Given the description of an element on the screen output the (x, y) to click on. 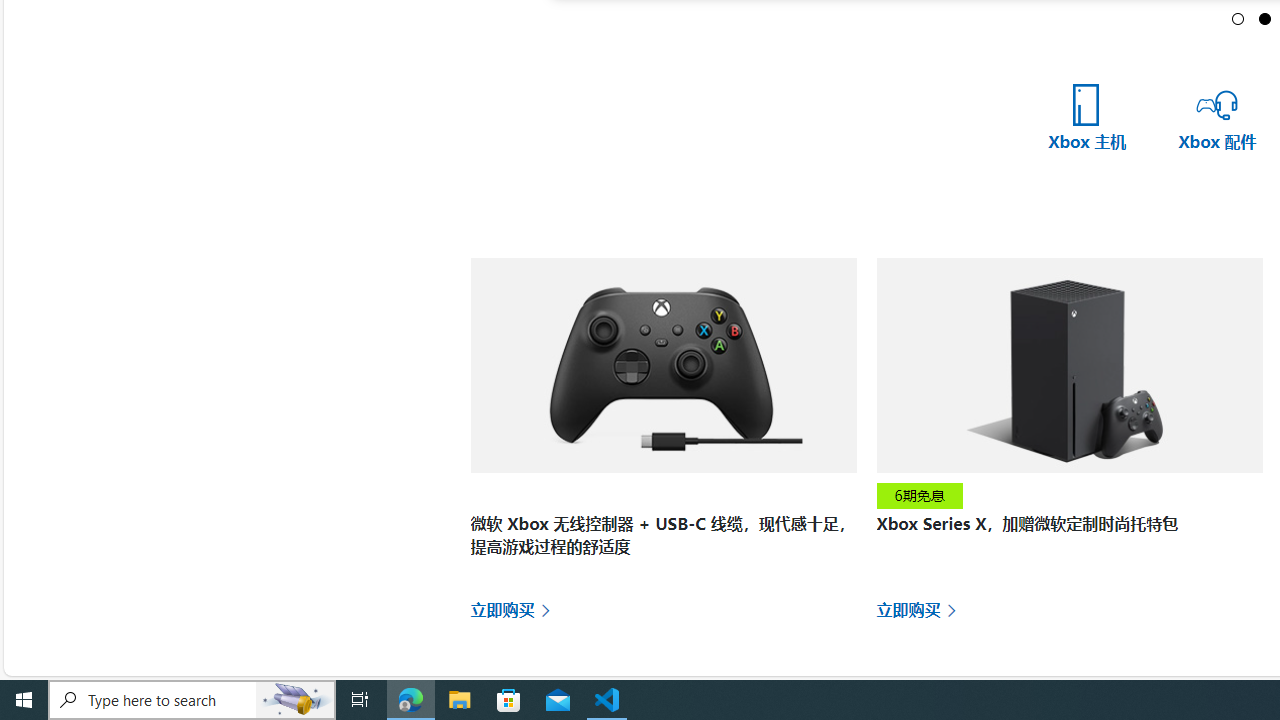
Go to slide 1 (1237, 18)
Go to slide 2 (1265, 18)
